Given the description of an element on the screen output the (x, y) to click on. 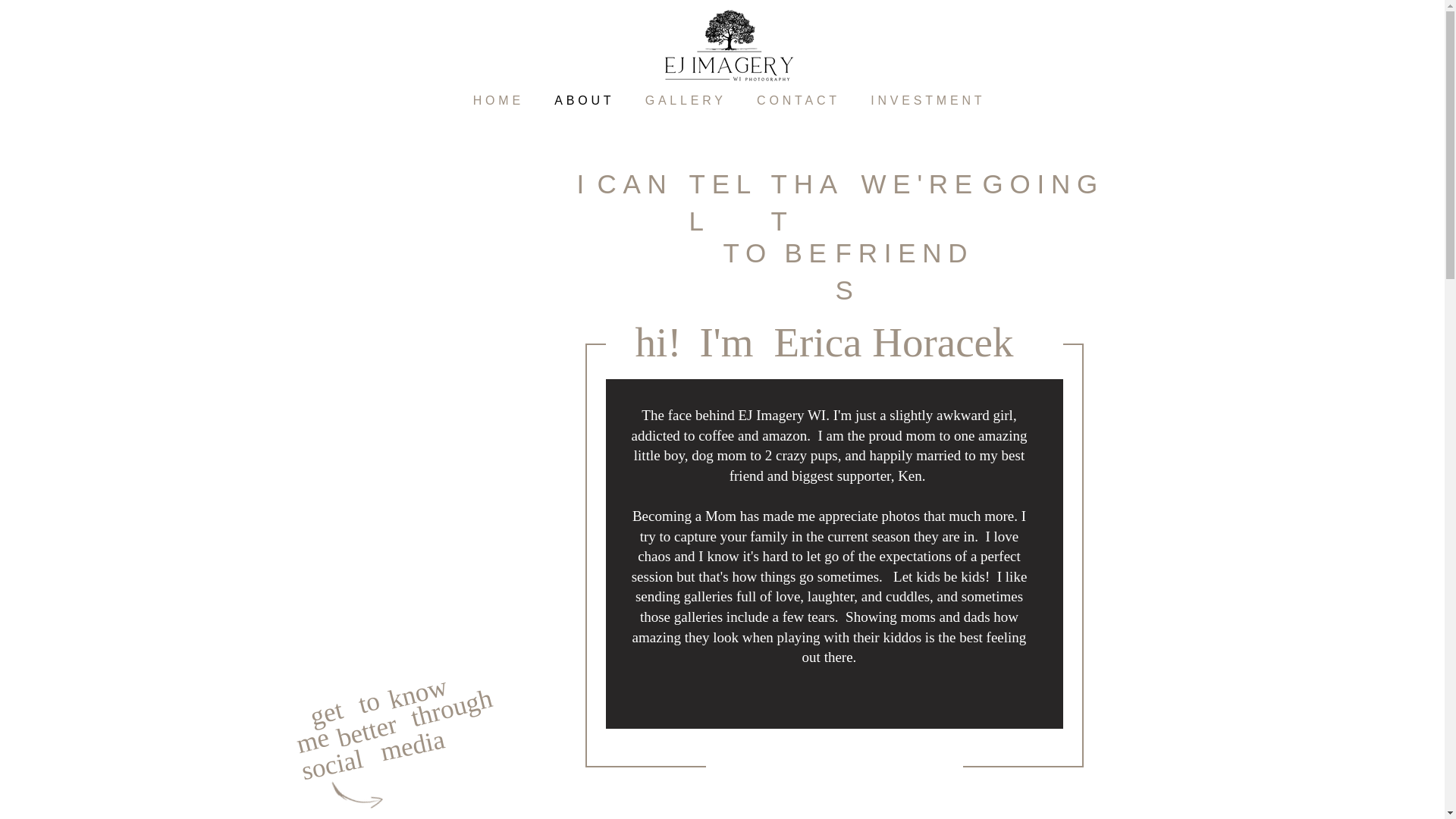
ABOUT (583, 100)
CONTACT (797, 100)
HOME (499, 100)
INVESTMENT (928, 100)
GALLERY (684, 100)
